Given the description of an element on the screen output the (x, y) to click on. 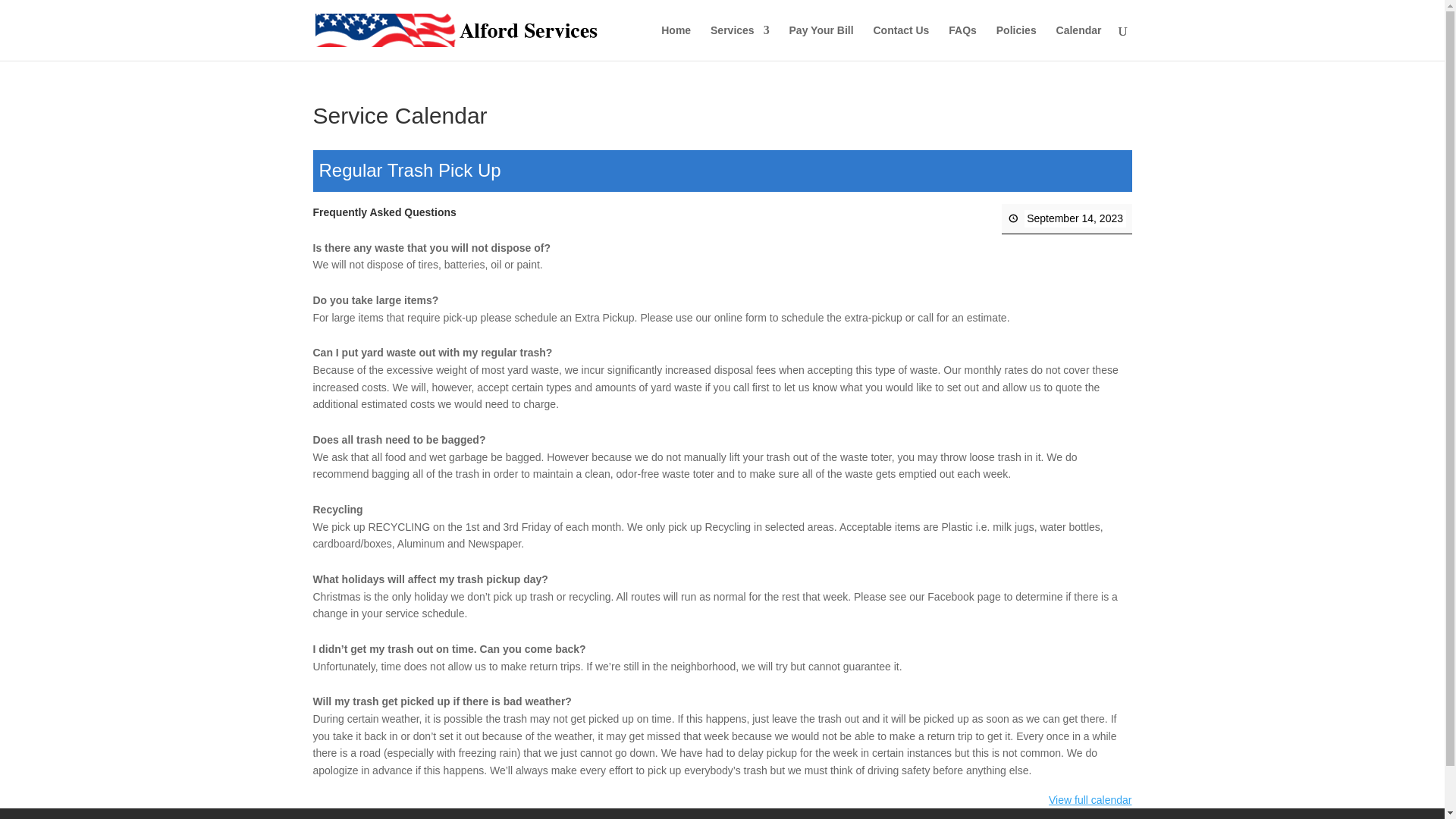
2023-09-14T00:00:00-05:00 (1074, 218)
Calendar (1079, 42)
Contact Us (901, 42)
View full calendar (1089, 799)
Pay Your Bill (821, 42)
Policies (1015, 42)
Services (740, 42)
